Given the description of an element on the screen output the (x, y) to click on. 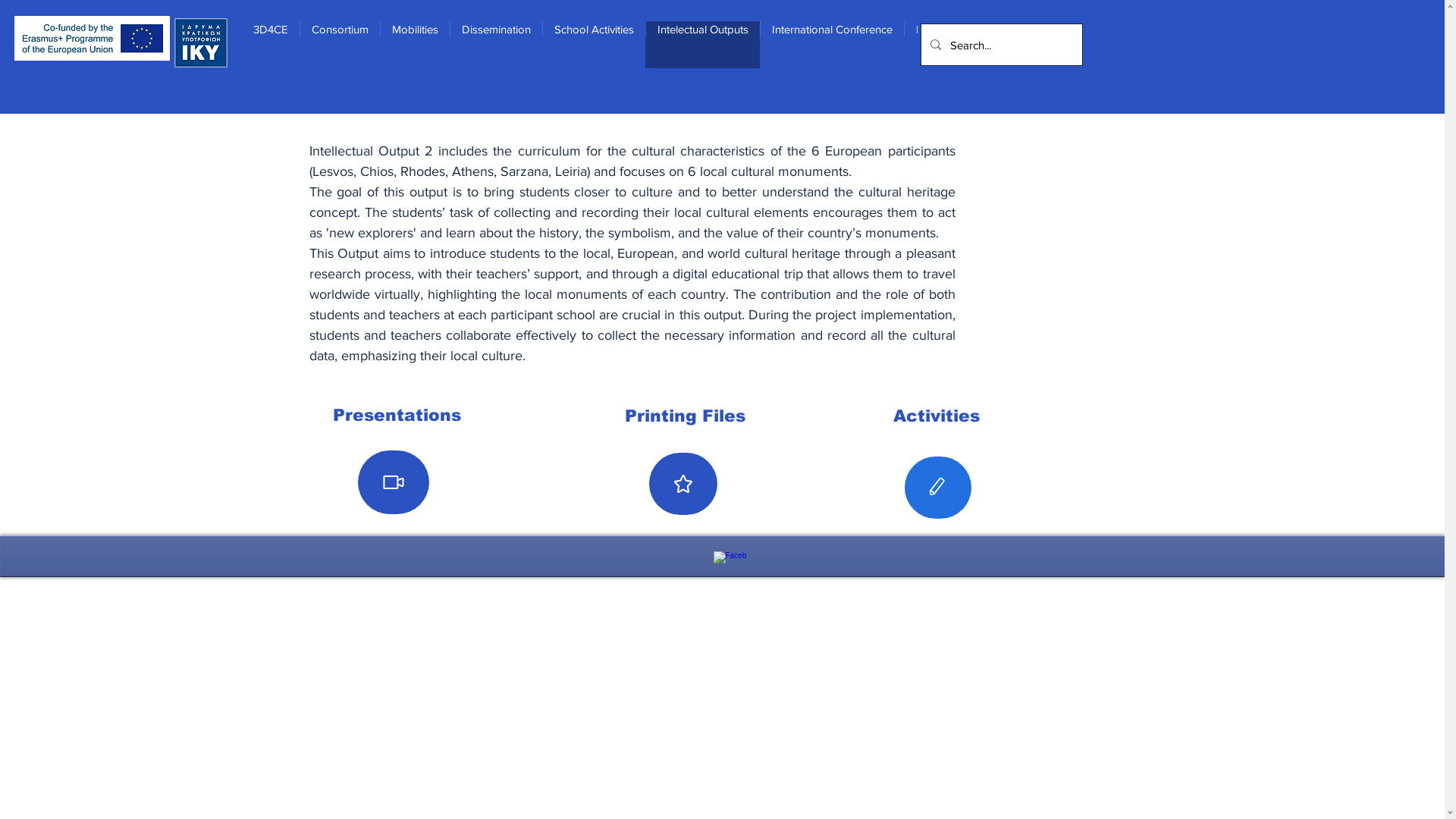
3D4CE Element type: text (270, 44)
School Activities Element type: text (593, 44)
LogoIKY.png Element type: hover (200, 42)
Mobilities Element type: text (414, 44)
Intelectual Outputs Element type: text (702, 44)
Consortium Element type: text (339, 44)
International Conference Element type: text (831, 44)
eu_flag_co_funded_pos_rgb_left.jpg Element type: hover (91, 37)
